Given the description of an element on the screen output the (x, y) to click on. 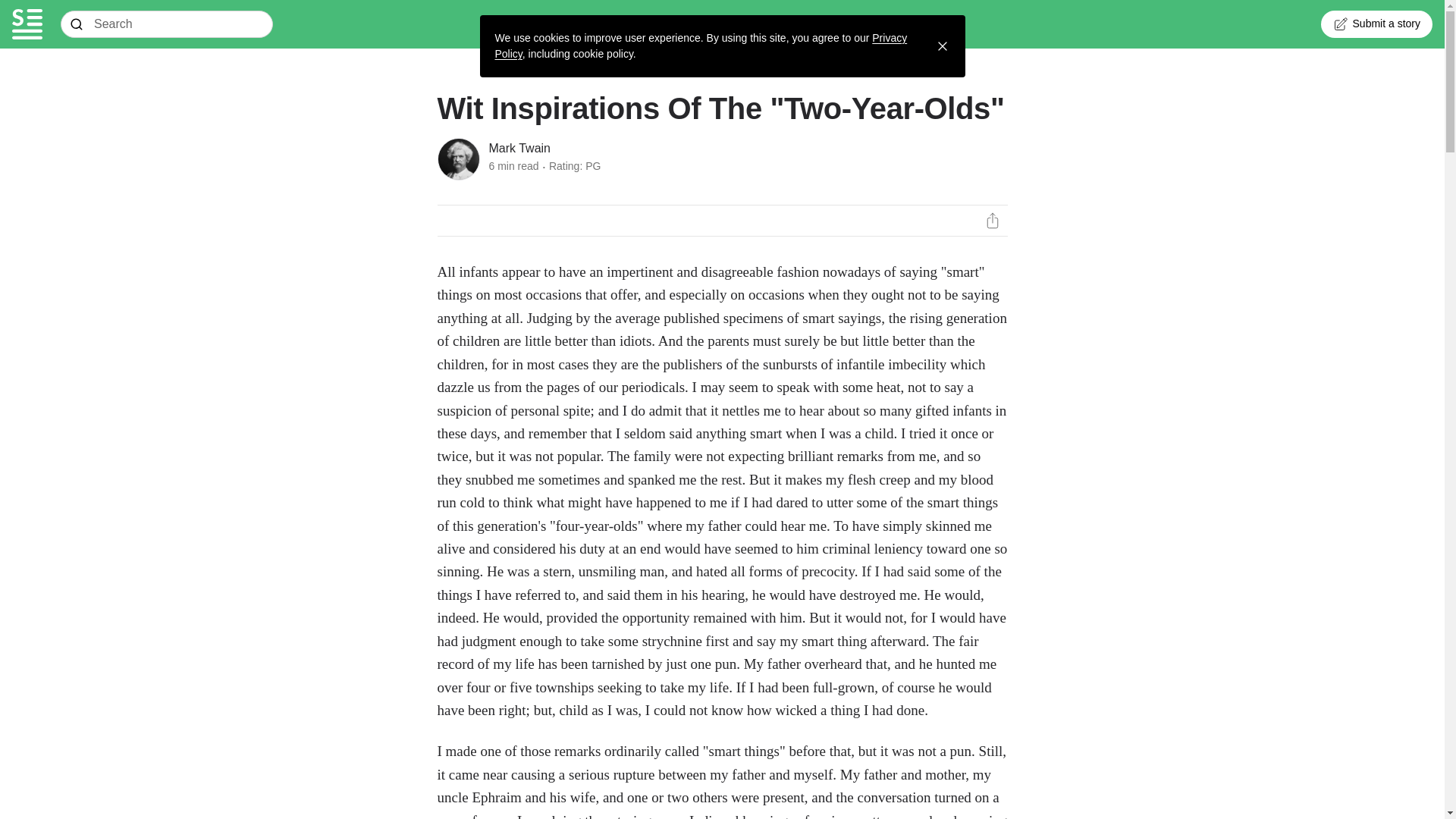
Mark Twain (518, 148)
Submit a story (1376, 23)
Submit (77, 23)
6 min read (512, 165)
Short Stories (26, 24)
